Given the description of an element on the screen output the (x, y) to click on. 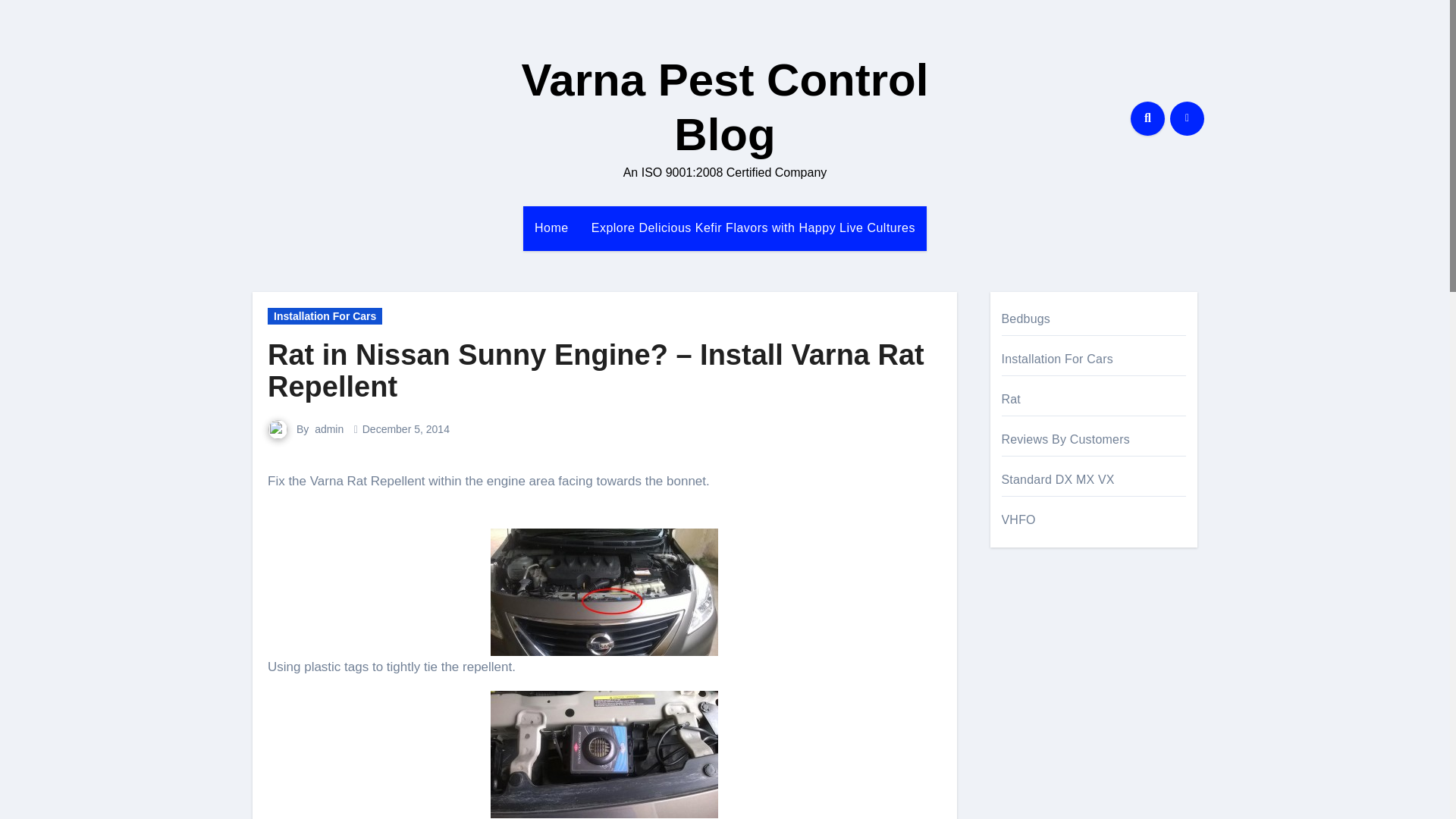
December 5, 2014 (405, 428)
Home (550, 228)
Varna Pest Control Blog (724, 106)
admin (328, 428)
Installation For Cars (324, 315)
Home (550, 228)
Explore Delicious Kefir Flavors with Happy Live Cultures (752, 228)
